Given the description of an element on the screen output the (x, y) to click on. 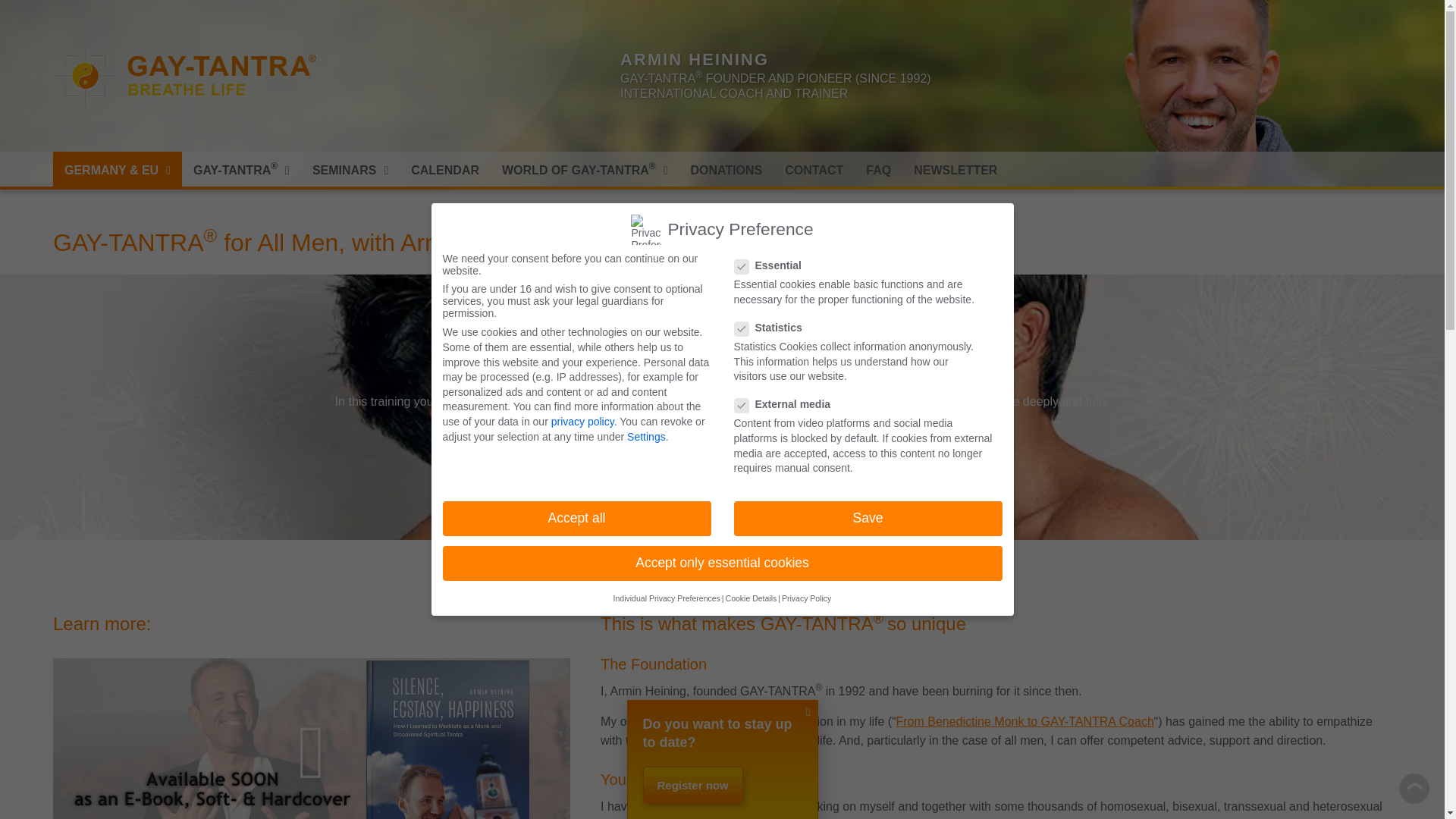
zum Seitenanfang scrollen (1414, 788)
Open Cookie Preferences (32, 799)
CONTACT (813, 170)
SEMINARS (349, 170)
DONATIONS (725, 170)
CALENDAR (444, 170)
NEWSLETTER (955, 170)
FAQ (878, 170)
